Given the description of an element on the screen output the (x, y) to click on. 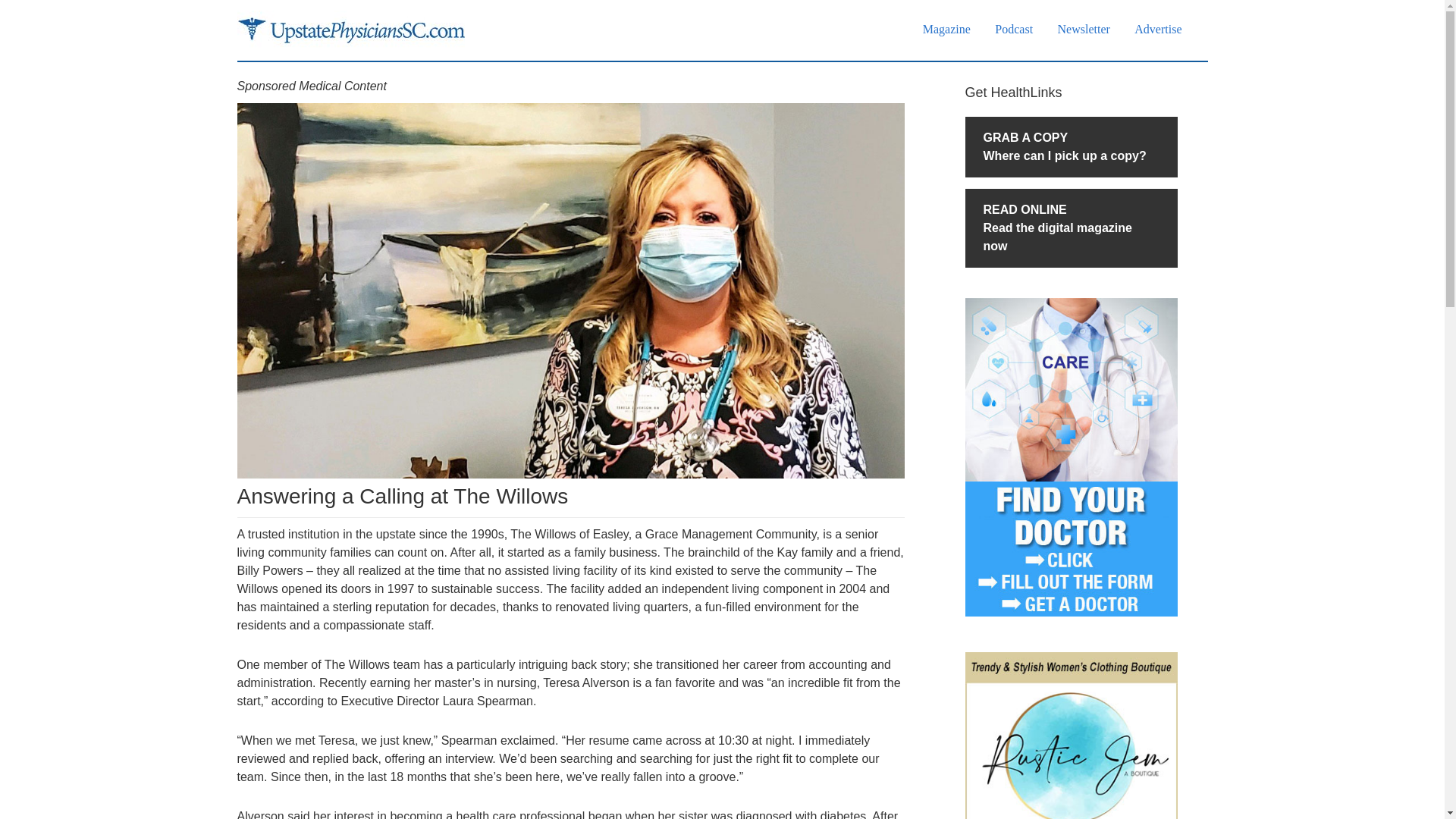
Magazine (946, 29)
Advertise (1158, 29)
Newsletter (1083, 29)
Podcast (1013, 29)
Upstate Physicians (1069, 147)
